Given the description of an element on the screen output the (x, y) to click on. 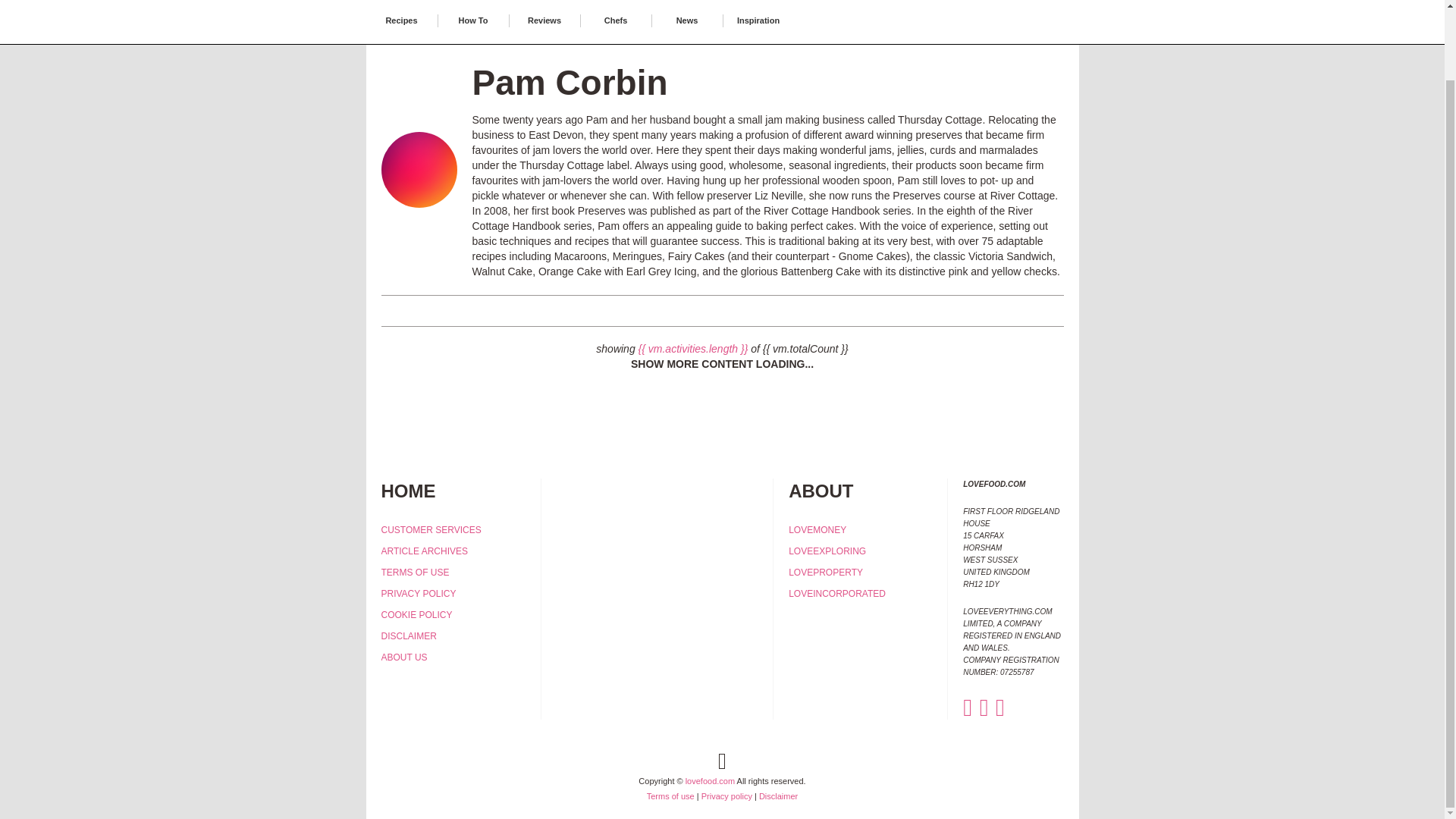
TERMS OF USE (414, 572)
COOKIE POLICY (415, 614)
LOVEMONEY (817, 529)
Inspiration (757, 20)
Reviews (543, 20)
News (687, 20)
ARTICLE ARCHIVES (423, 551)
ABOUT US (403, 656)
Recipes (400, 20)
LOVEEXPLORING (827, 551)
